Given the description of an element on the screen output the (x, y) to click on. 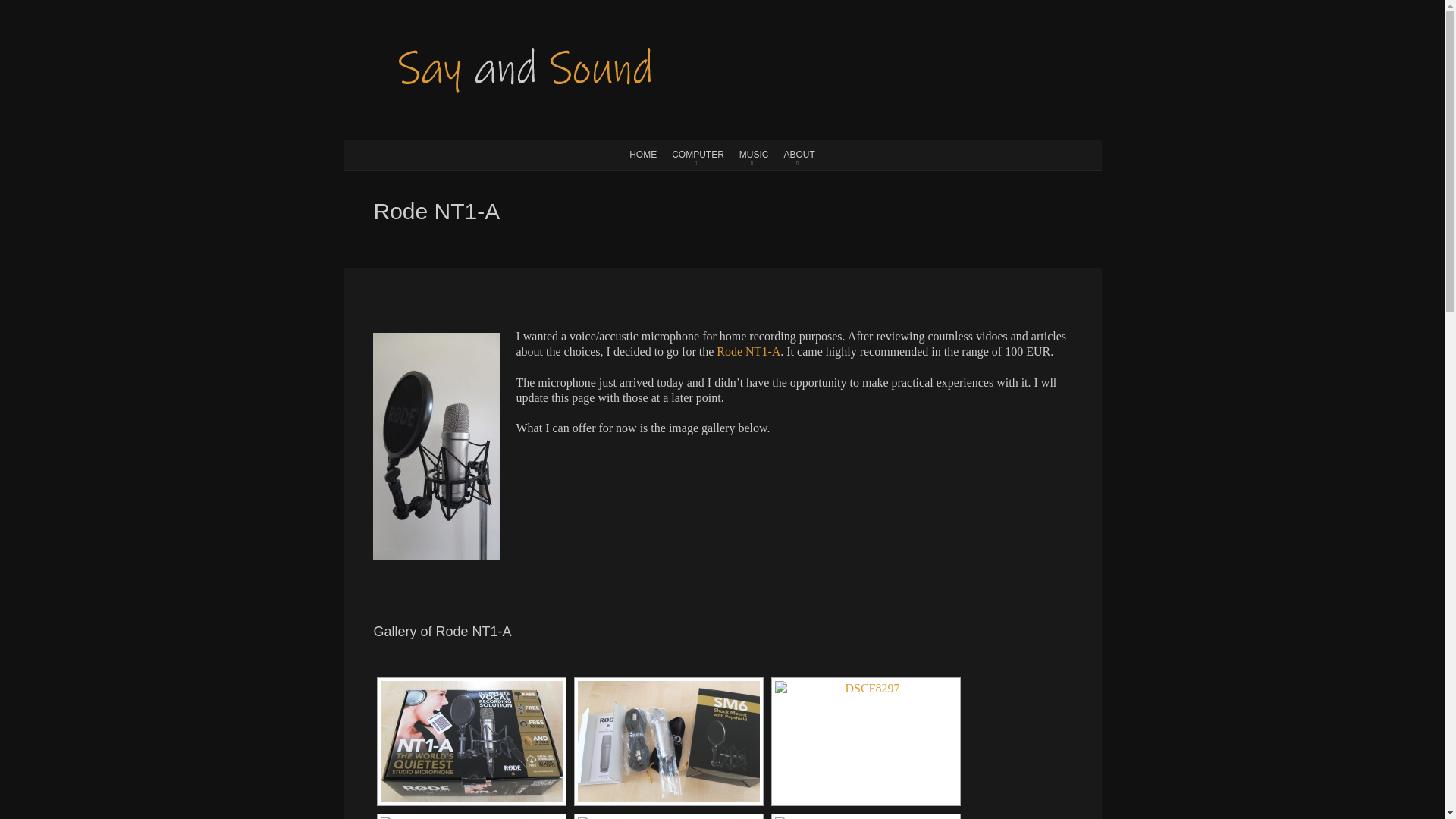
DSCF8296 (669, 741)
DSCF8295 (471, 741)
DSCF8297 (865, 741)
